Given the description of an element on the screen output the (x, y) to click on. 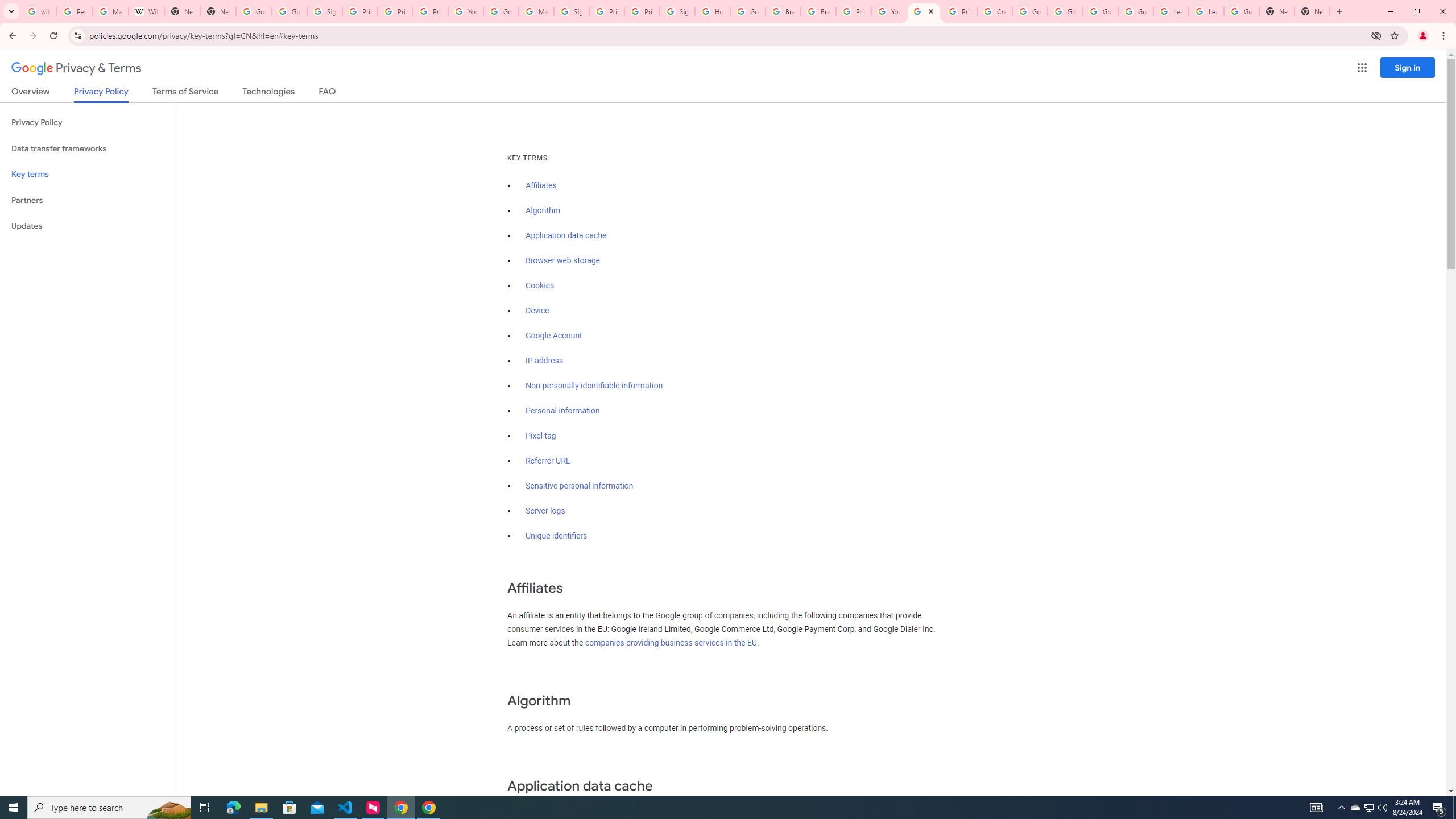
Sign in - Google Accounts (324, 11)
companies providing business services in the EU (671, 642)
Overview (30, 93)
